Given the description of an element on the screen output the (x, y) to click on. 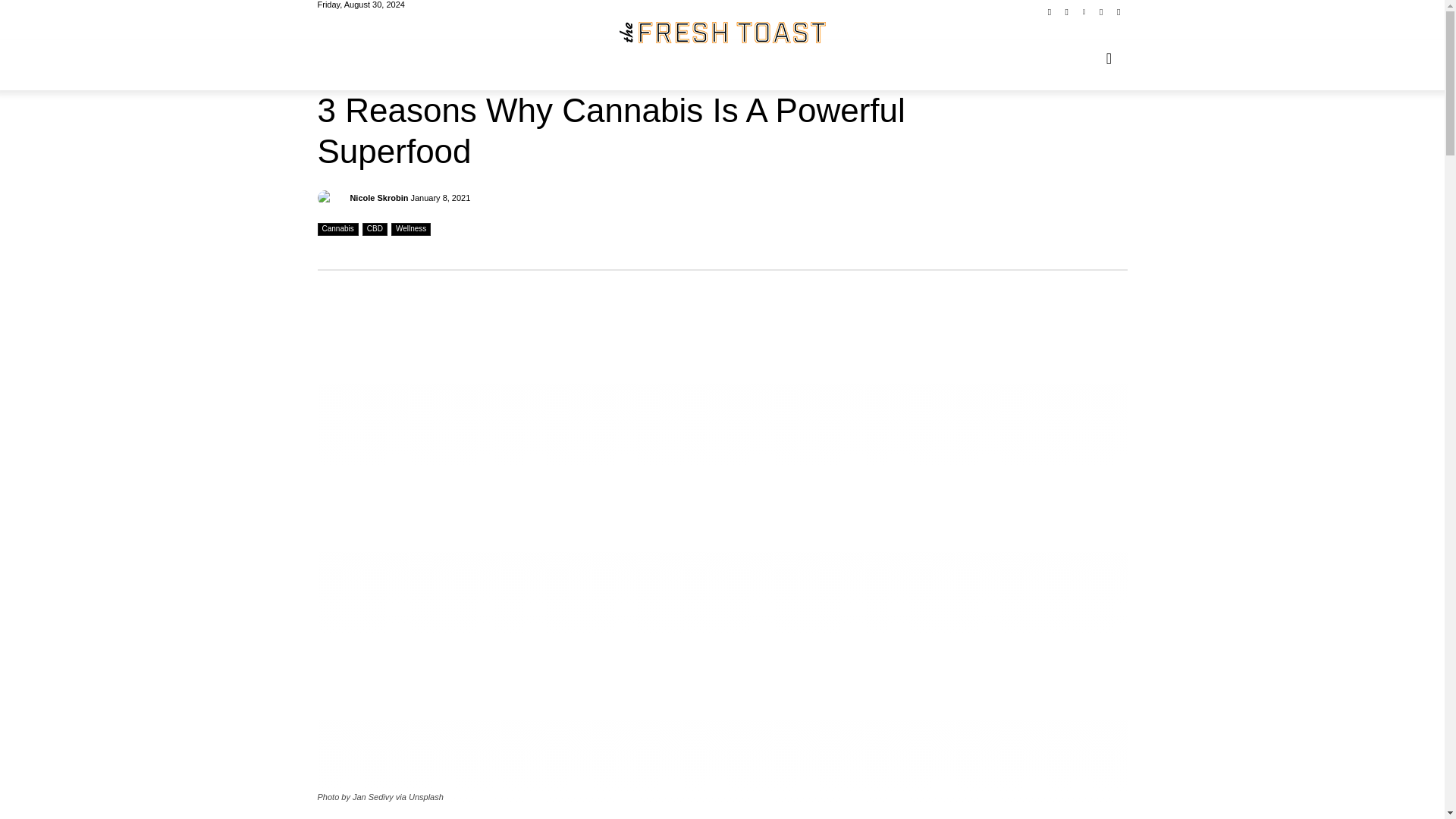
Twitter (1101, 12)
The Fresh Toast (721, 32)
Facebook (1049, 12)
Instagram (1066, 12)
Linkedin (1084, 12)
Youtube (1117, 12)
